Given the description of an element on the screen output the (x, y) to click on. 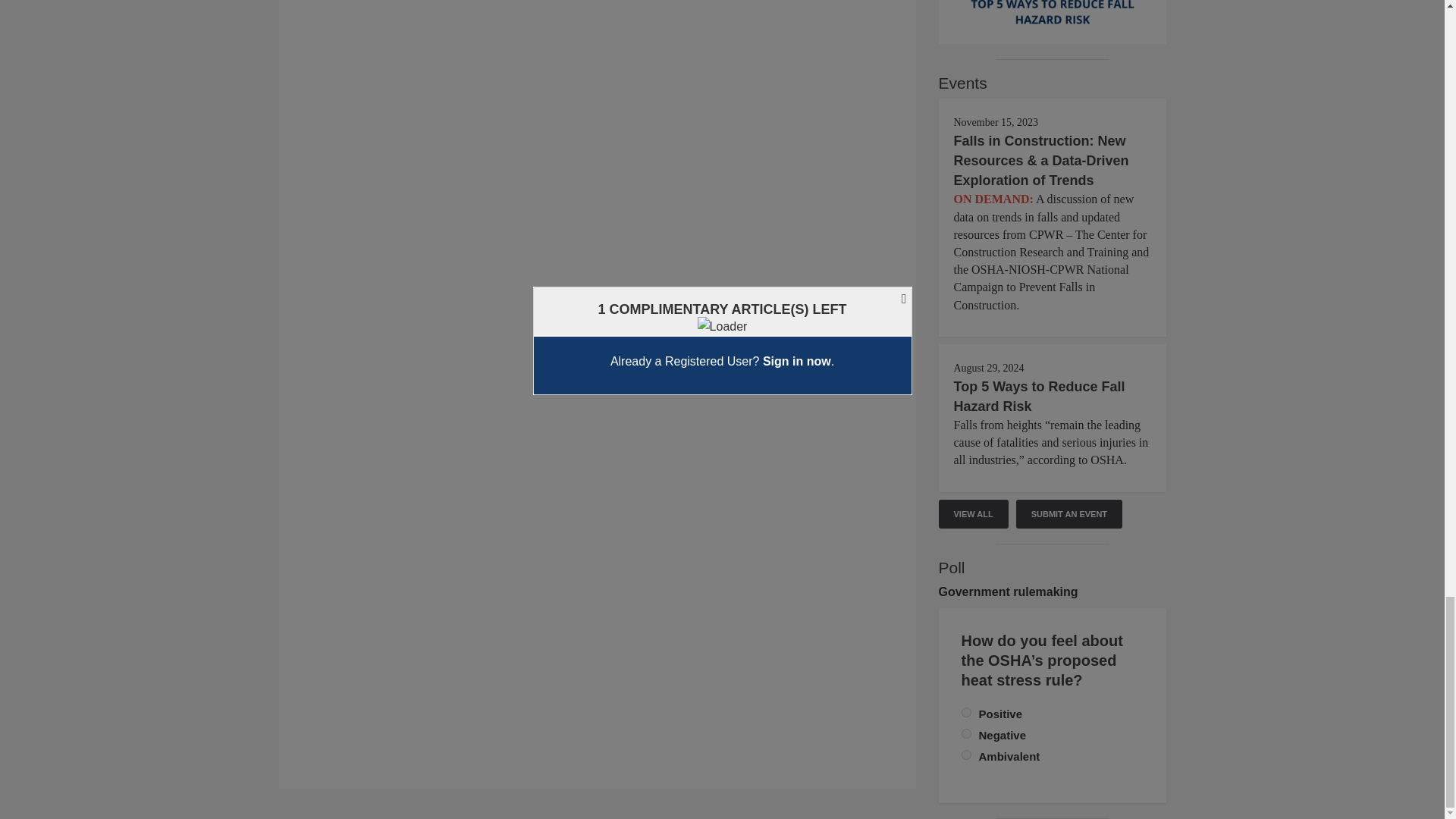
144 (965, 755)
Top 5 Ways to Reduce Fall Hazard Risk (1039, 396)
142 (965, 712)
143 (965, 733)
